Given the description of an element on the screen output the (x, y) to click on. 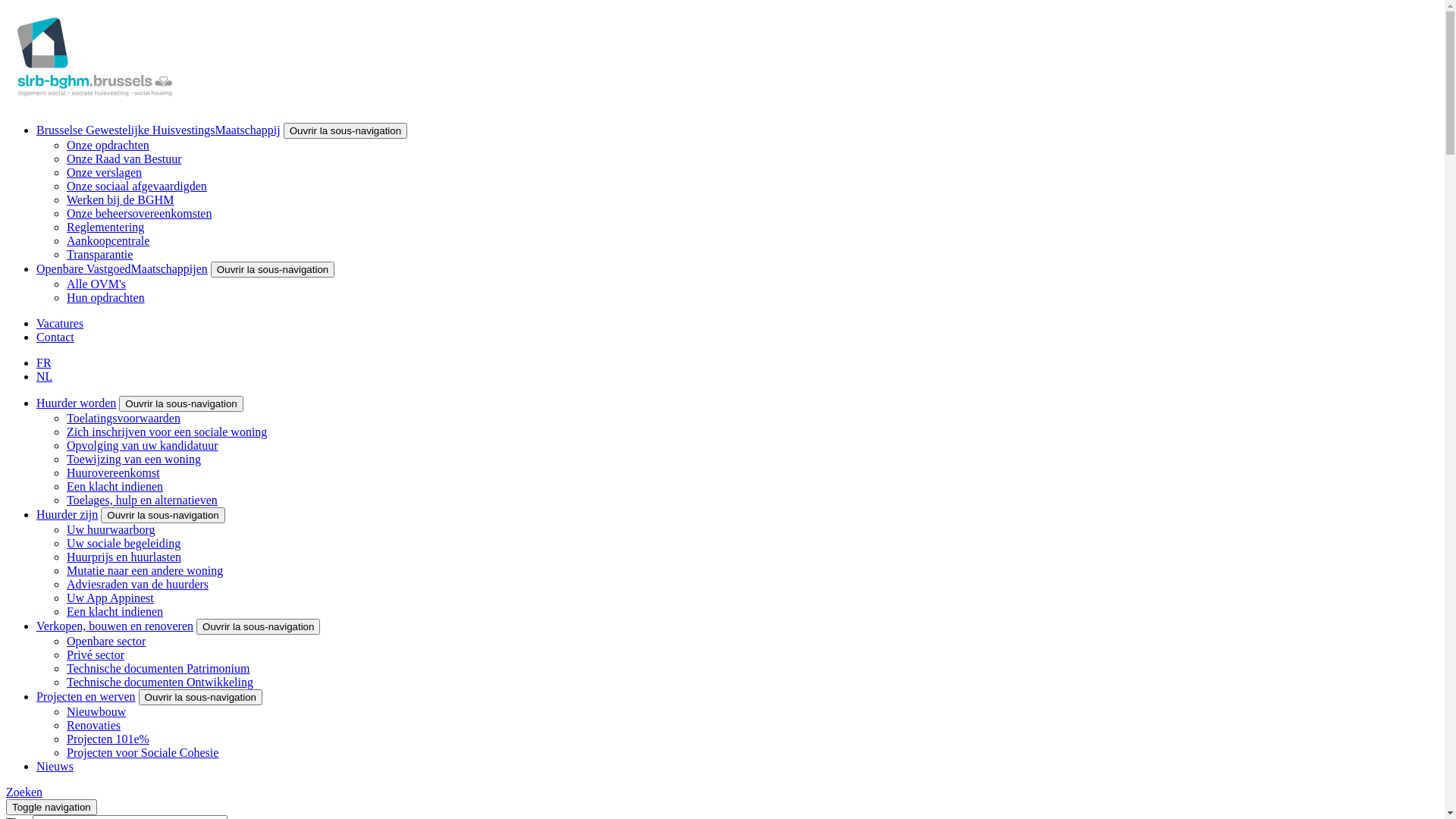
Opvolging van uw kandidatuur Element type: text (142, 445)
Aankoopcentrale Element type: text (107, 240)
Huurovereenkomst Element type: text (113, 472)
Projecten en werven Element type: text (85, 696)
Reglementering Element type: text (105, 226)
Overslaan en naar de inhoud gaan Element type: text (6, 6)
Uw huurwaarborg Element type: text (110, 529)
Huurder zijn Element type: text (66, 514)
Onze sociaal afgevaardigden Element type: text (136, 185)
Transparantie Element type: text (99, 253)
Renovaties Element type: text (93, 724)
Huurprijs en huurlasten Element type: text (123, 556)
Werken bij de BGHM Element type: text (119, 199)
Vacatures Element type: text (59, 322)
Openbare VastgoedMaatschappijen Element type: text (121, 268)
Projecten 101e% Element type: text (107, 738)
Brusselse Gewestelijke HuisvestingsMaatschappij Element type: text (158, 129)
Adviesraden van de huurders Element type: text (137, 583)
Onze beheersovereenkomsten Element type: text (138, 213)
Onze verslagen Element type: text (103, 172)
Zich inschrijven voor een sociale woning Element type: text (166, 431)
NL Element type: text (44, 376)
Ouvrir la sous-navigation Element type: text (180, 403)
Ouvrir la sous-navigation Element type: text (345, 130)
Technische documenten Patrimonium Element type: text (157, 668)
Onze Raad van Bestuur Element type: text (124, 158)
Alle OVM's Element type: text (95, 283)
Huurder worden Element type: text (76, 402)
Toelatingsvoorwaarden Element type: text (123, 417)
Ouvrir la sous-navigation Element type: text (272, 269)
Ouvrir la sous-navigation Element type: text (162, 515)
FR Element type: text (43, 362)
Nieuwbouw Element type: text (95, 711)
Verkopen, bouwen en renoveren Element type: text (114, 625)
Contact Element type: text (55, 336)
Zoeken Element type: text (24, 791)
Mutatie naar een andere woning Element type: text (144, 570)
Toggle navigation Element type: text (51, 807)
Nieuws Element type: text (54, 765)
Een klacht indienen Element type: text (114, 611)
Ouvrir la sous-navigation Element type: text (200, 697)
Ouvrir la sous-navigation Element type: text (258, 626)
Toewijzing van een woning Element type: text (133, 458)
Onze opdrachten Element type: text (107, 144)
Uw App Appinest Element type: text (109, 597)
Uw sociale begeleiding Element type: text (123, 542)
Een klacht indienen Element type: text (114, 486)
Openbare sector Element type: text (105, 640)
Technische documenten Ontwikkeling Element type: text (159, 681)
Toelages, hulp en alternatieven Element type: text (141, 499)
Home Element type: hover (94, 103)
Hun opdrachten Element type: text (105, 297)
Projecten voor Sociale Cohesie Element type: text (142, 752)
